Given the description of an element on the screen output the (x, y) to click on. 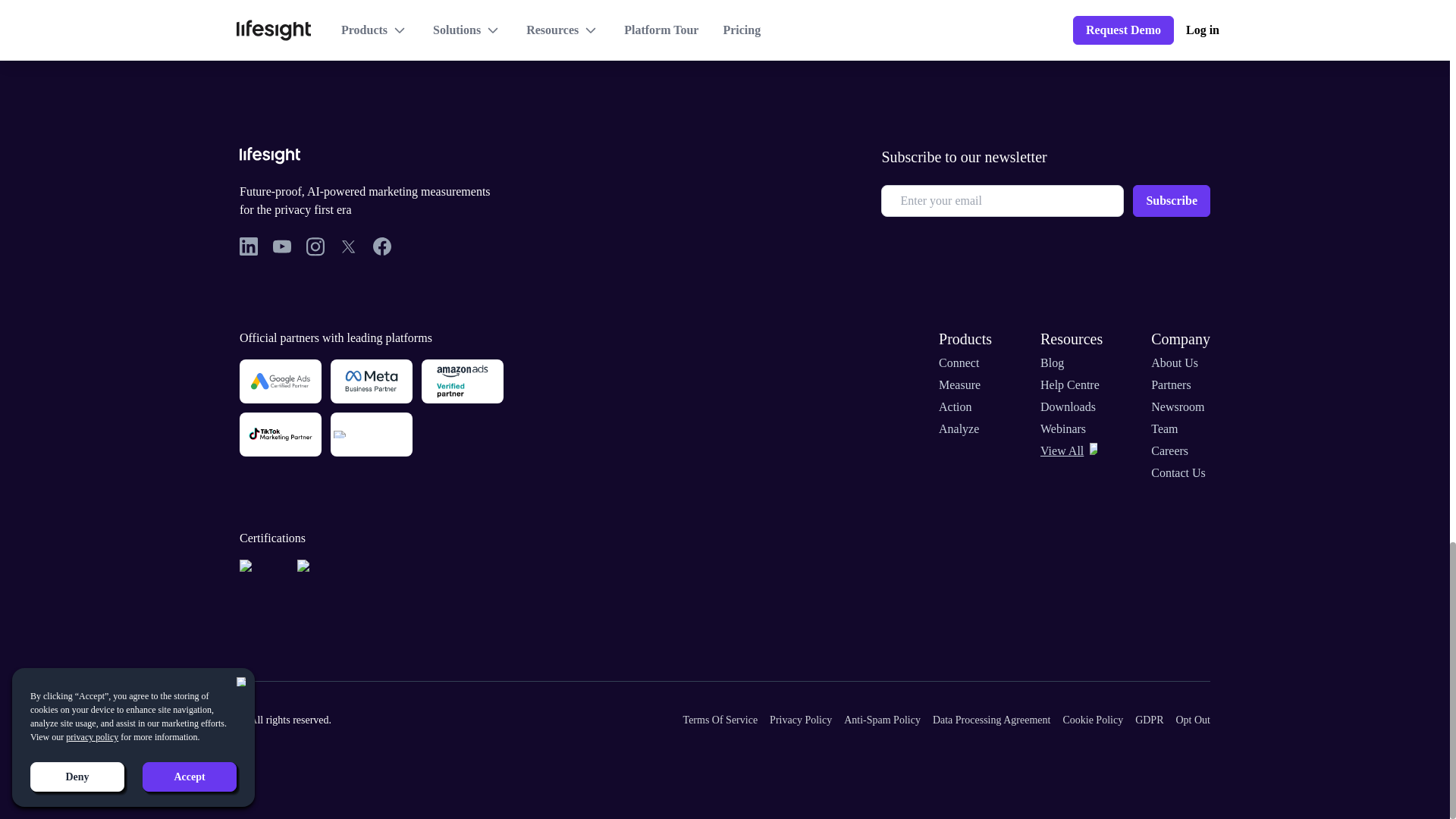
Subscribe (1170, 201)
